Given the description of an element on the screen output the (x, y) to click on. 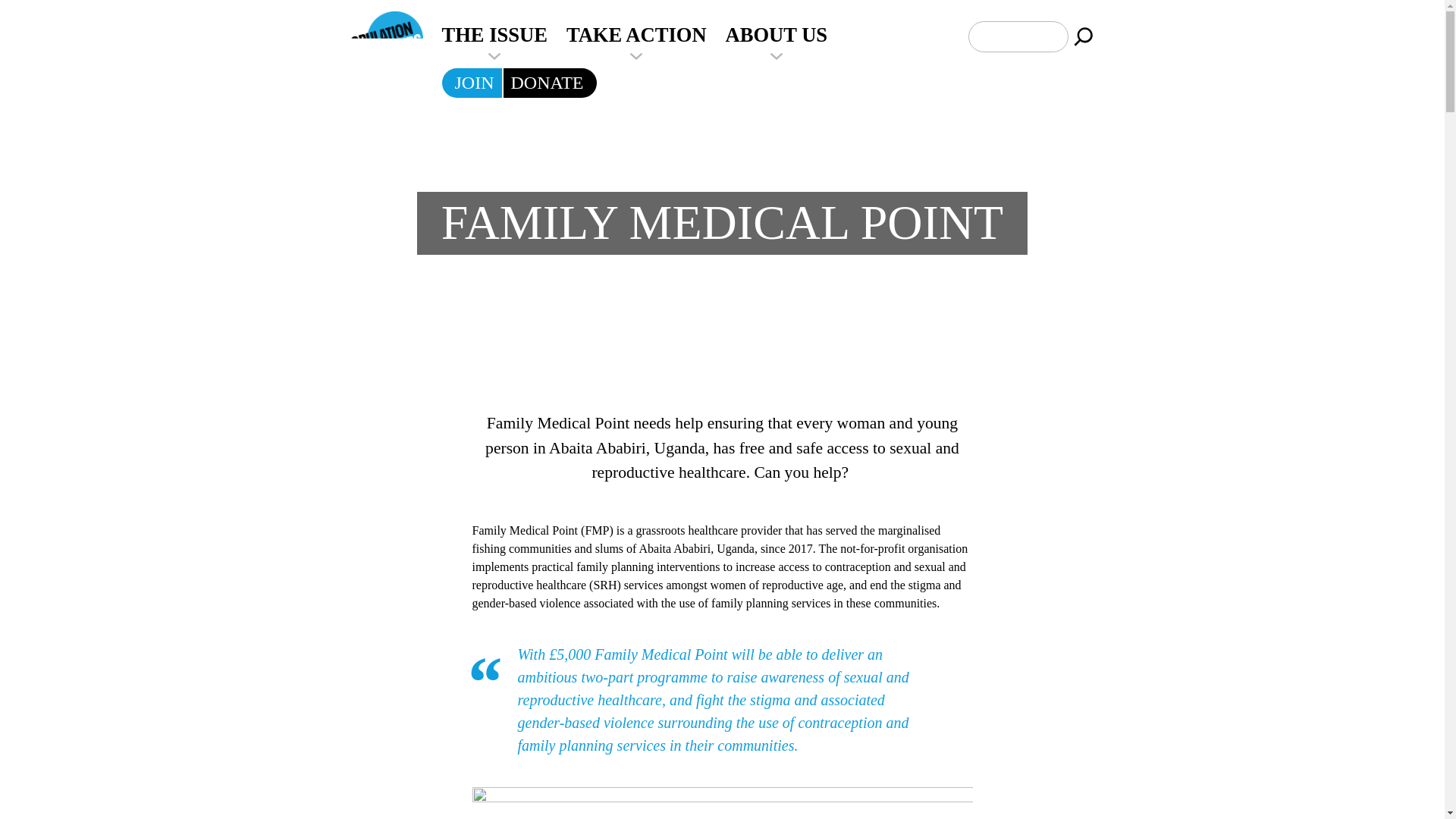
JOIN (474, 83)
THE ISSUE (494, 35)
DONATE (547, 83)
TAKE ACTION (636, 35)
ABOUT US (776, 35)
